Given the description of an element on the screen output the (x, y) to click on. 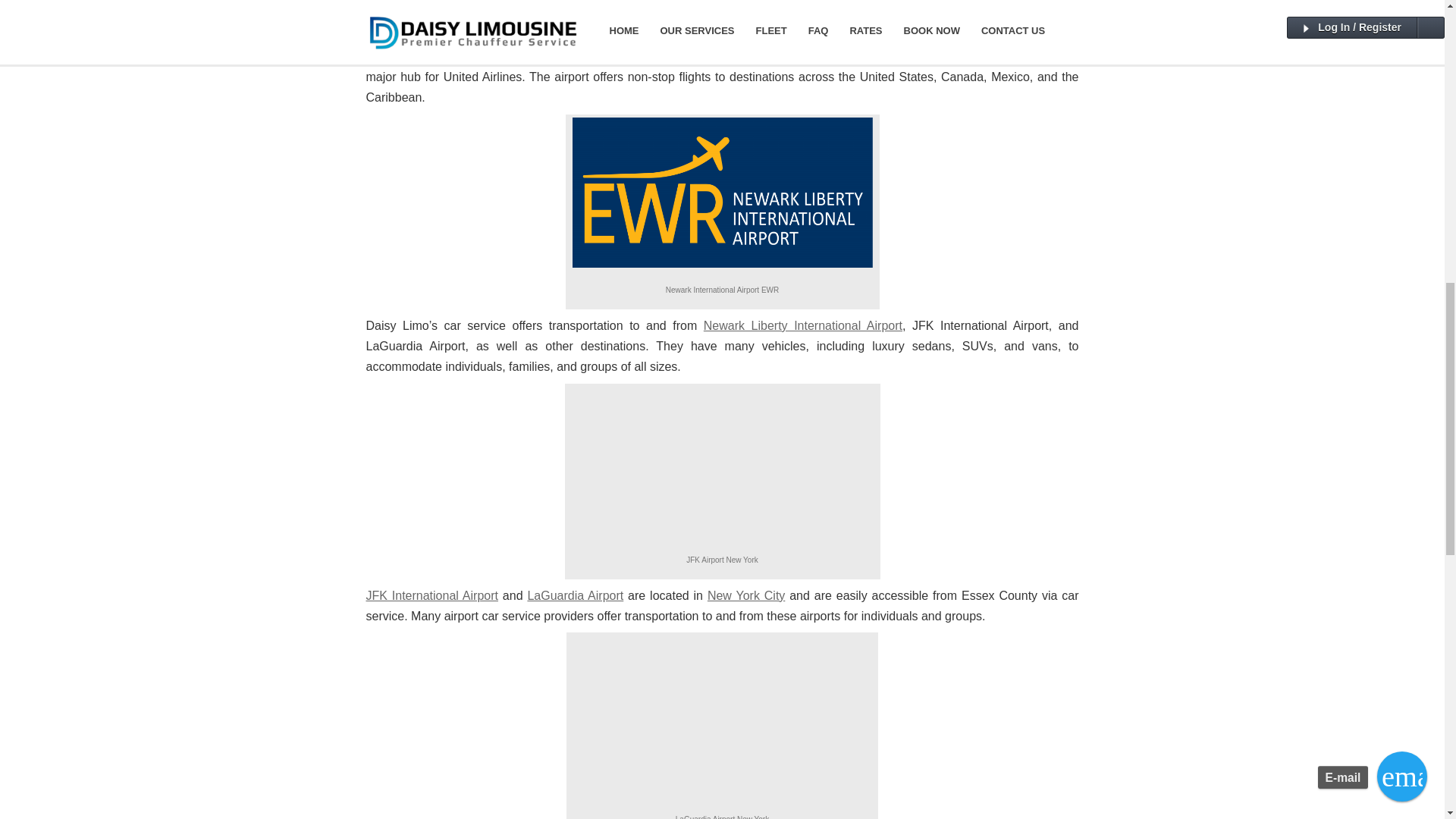
JFK International Airport (431, 594)
LaGuardia Airport (575, 594)
Newark Liberty International Airport (802, 325)
New York City (745, 594)
